Given the description of an element on the screen output the (x, y) to click on. 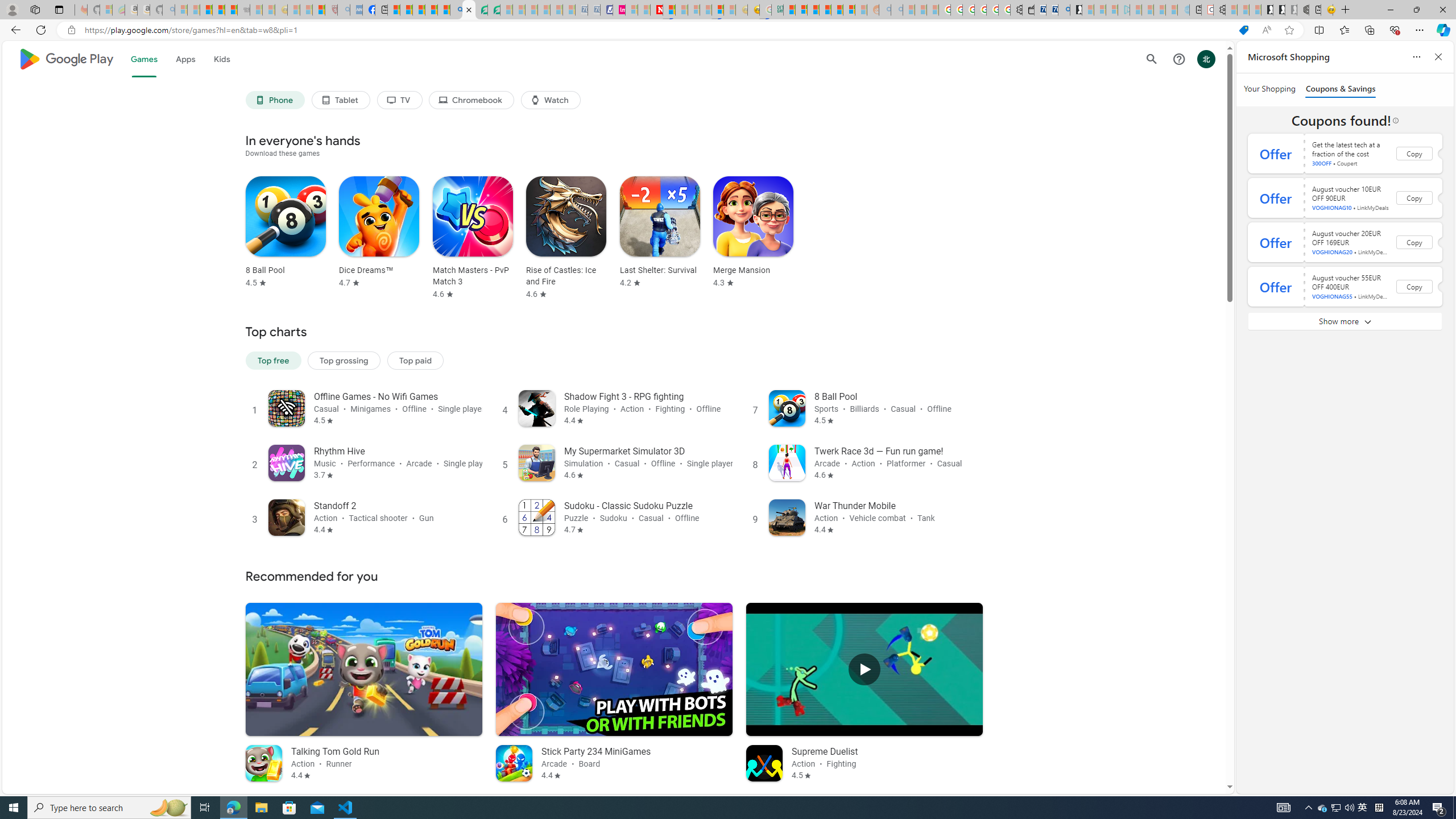
App bar (728, 29)
Merge Mansion Rated 4.3 stars out of five stars (753, 232)
Merge Mansion4.3 (749, 238)
Microsoft account | Privacy (801, 9)
Class: ULeU3b (550, 100)
Last Shelter: Survival4.2 (656, 238)
NCL Adult Asthma Inhaler Choice Guideline - Sleeping (355, 9)
